Given the description of an element on the screen output the (x, y) to click on. 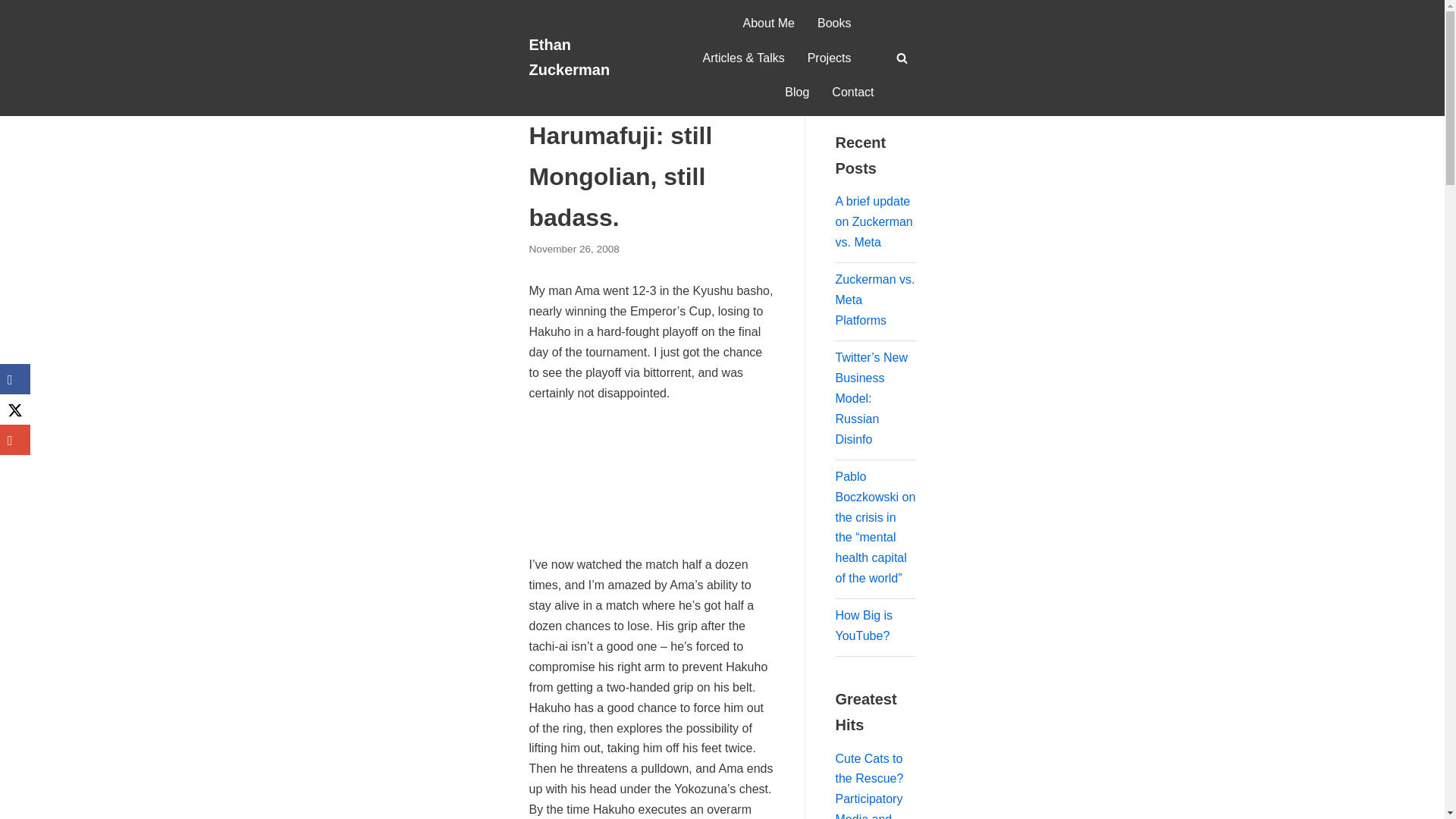
Skip to content (15, 31)
Home (542, 84)
Ethan Zuckerman (586, 57)
Blog (577, 84)
Contact (852, 92)
Ethan Zuckerman (586, 57)
Sumo (611, 84)
Blog (796, 92)
Search (897, 87)
Search (897, 87)
Books (833, 23)
About Me (768, 23)
Projects (829, 57)
Search (897, 409)
